Given the description of an element on the screen output the (x, y) to click on. 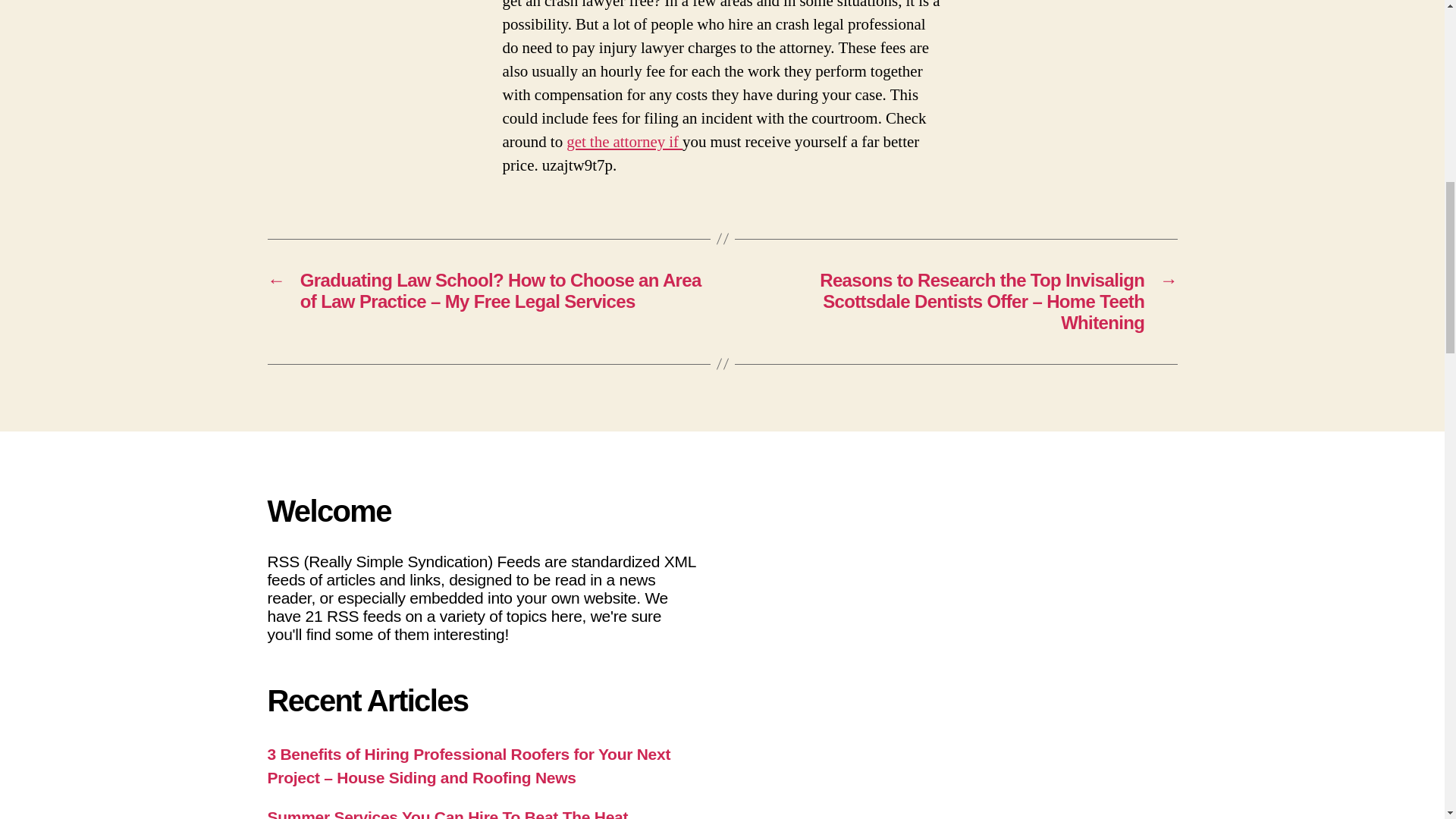
Summer Services You Can Hire To Beat The Heat Monogram Decor (446, 813)
get the attorney if (624, 141)
